Given the description of an element on the screen output the (x, y) to click on. 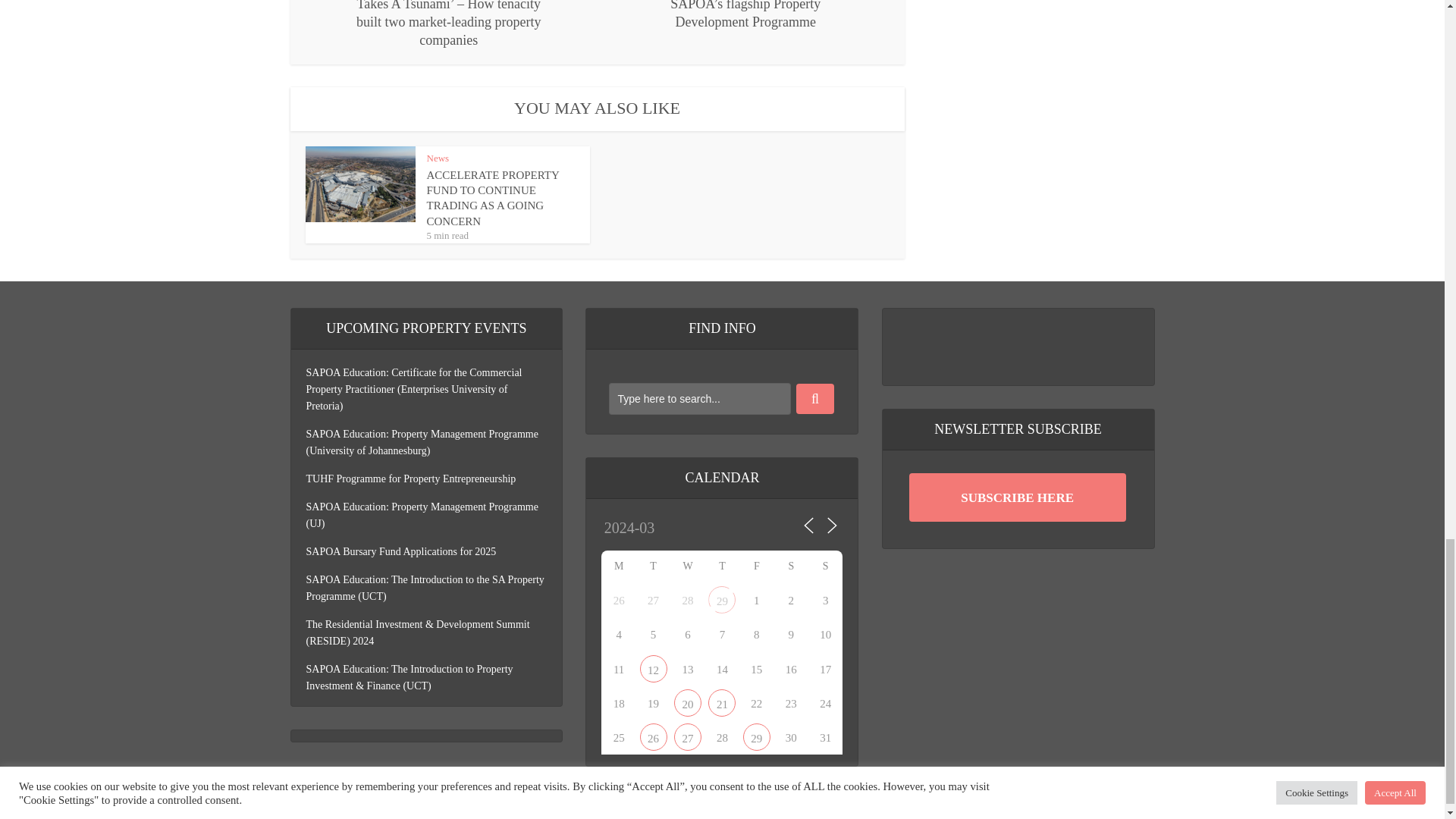
PSG Think Big Series: Mayor Geordin Hill-Lewis (653, 736)
2024-03 (666, 528)
Type here to search... (699, 398)
Type here to search... (699, 398)
SAPOA Research Webinar: Retail Trends Report (687, 702)
SAPOA Educational Webinars: Intro to Broking (653, 668)
